Given the description of an element on the screen output the (x, y) to click on. 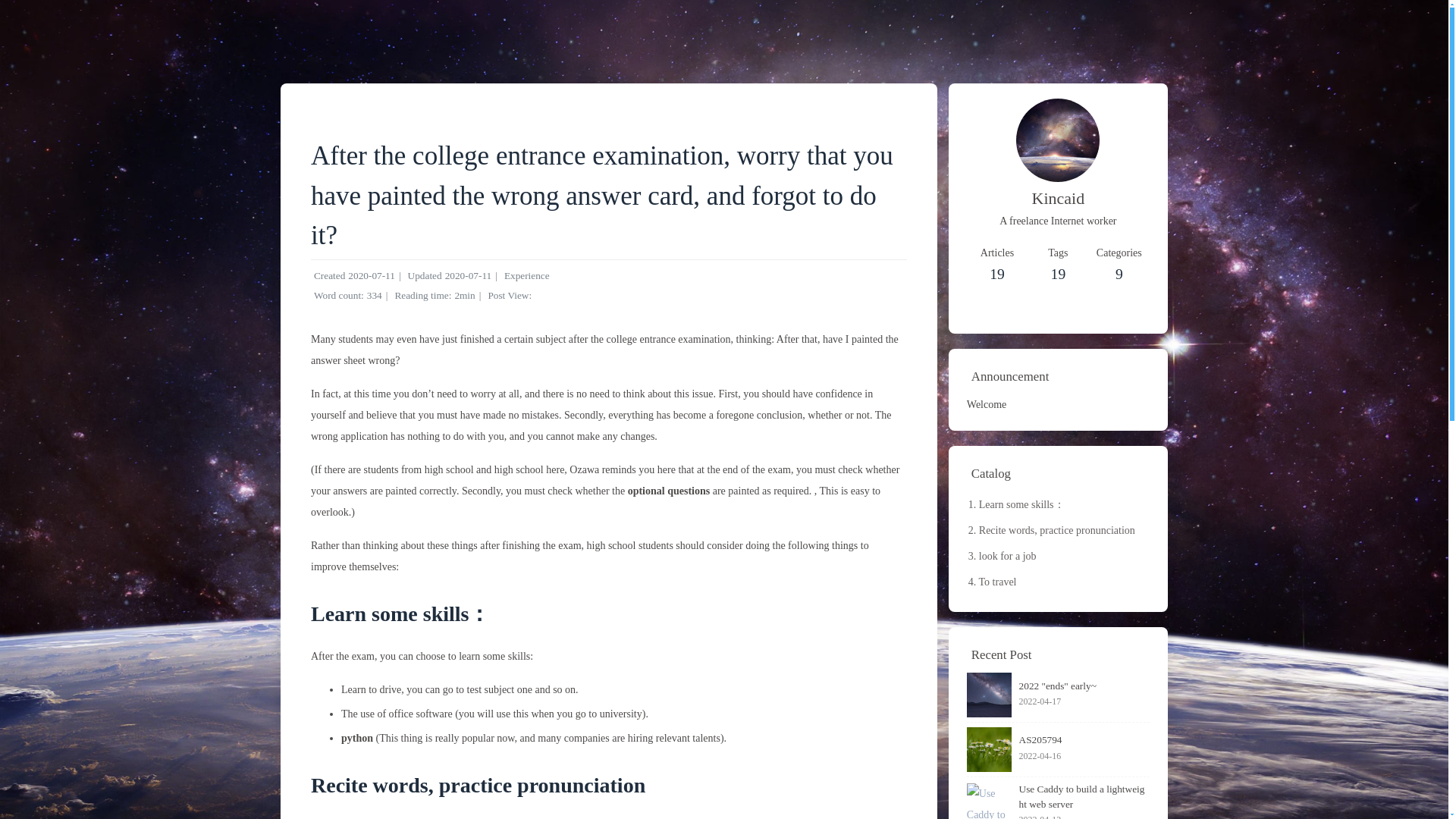
Created 2020-07-11 21:52:52 (370, 275)
2. Recite words, practice pronunciation (1119, 265)
Created 2022-04-17 23:14:22 (1058, 530)
Updated 2020-07-11 21:52:52 (1057, 265)
AS205794 (1084, 701)
Created 2022-04-16 20:57:49 (468, 275)
AS205794 (1084, 739)
